Given the description of an element on the screen output the (x, y) to click on. 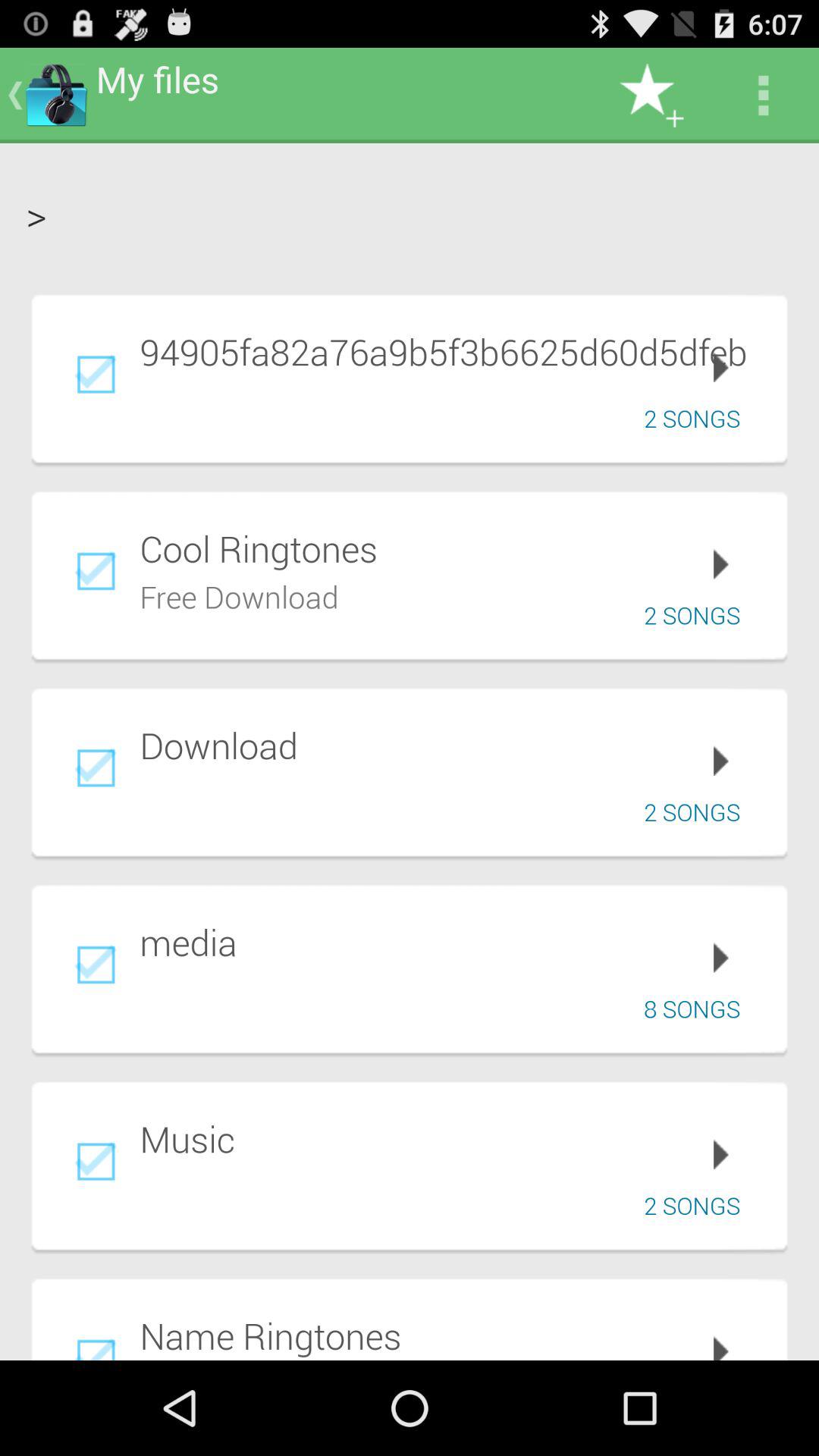
tap the media (452, 941)
